Given the description of an element on the screen output the (x, y) to click on. 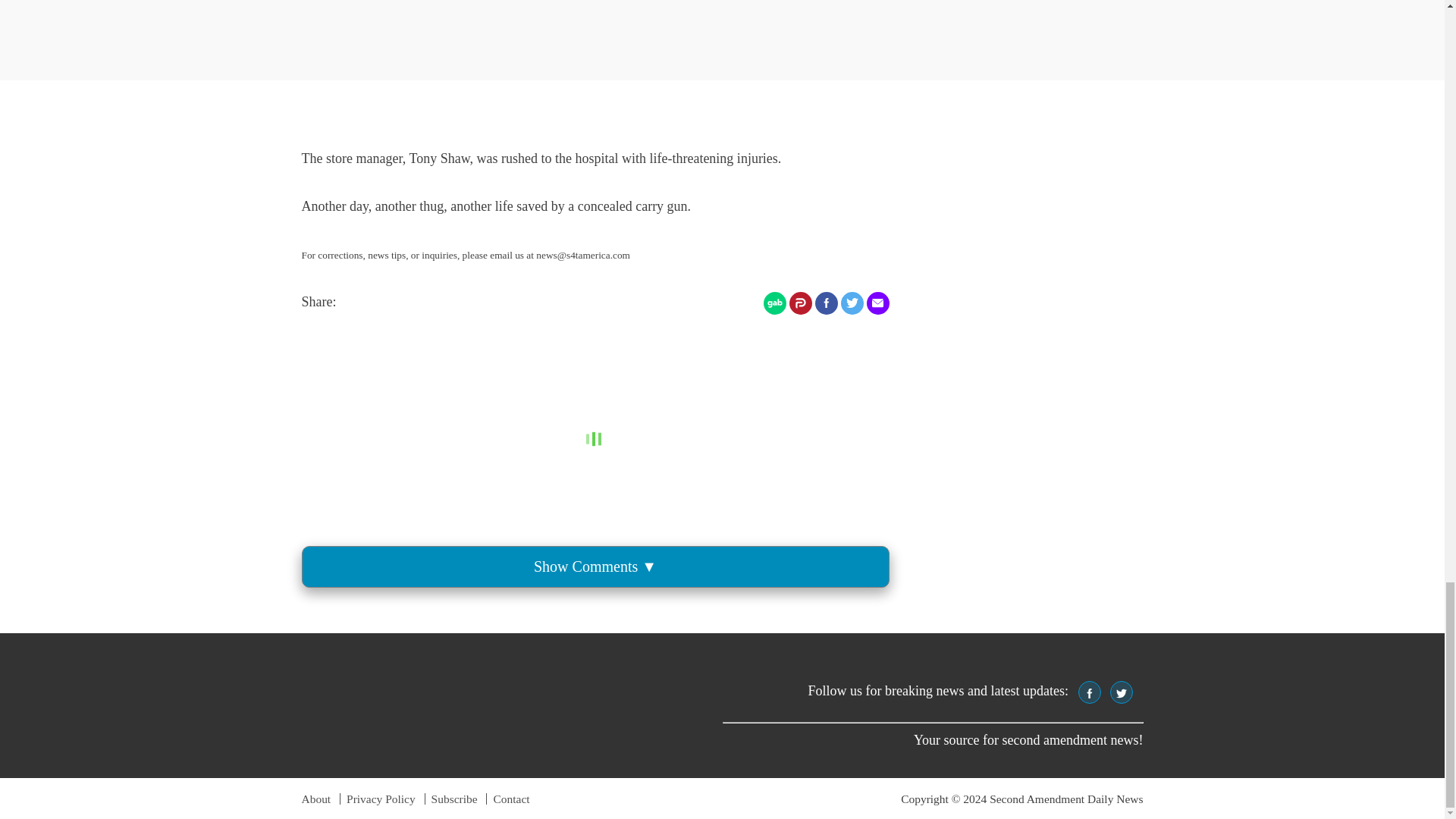
Share on Twitter (851, 302)
Follow us on Facebook (1089, 691)
Share on Facebook (825, 302)
Contact (511, 798)
twitter (1121, 693)
facebook (1089, 691)
Share via Email (877, 302)
Privacy Policy (380, 798)
facebook (1089, 693)
Subscribe (453, 798)
twitter (1120, 691)
Share on Parler (799, 302)
About (316, 798)
Share on Gab (774, 302)
Follow us on Twitter (1120, 691)
